Given the description of an element on the screen output the (x, y) to click on. 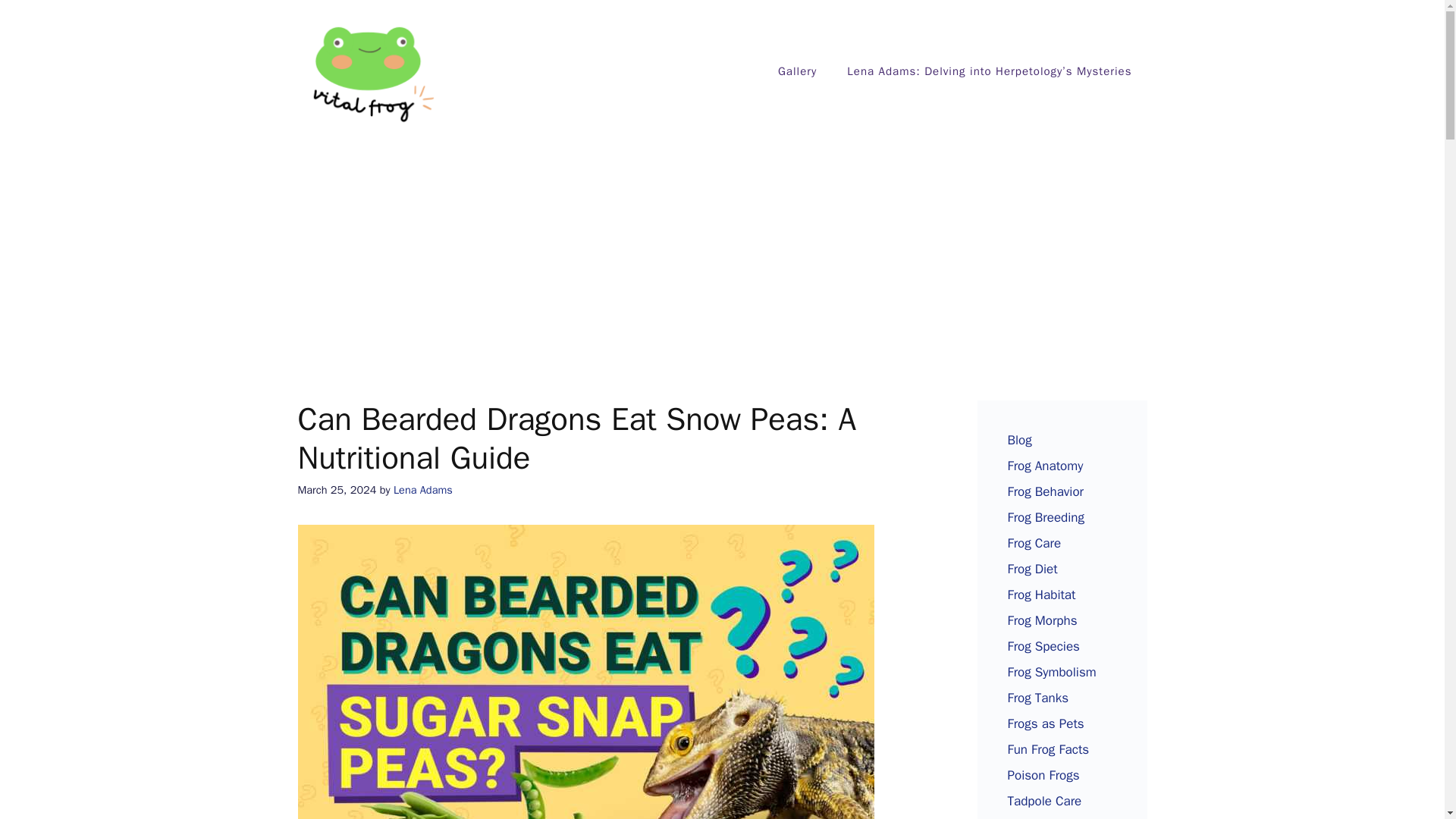
Poison Frogs (1042, 774)
Blog (1018, 439)
Tadpole Care (1044, 801)
Frog Tanks (1037, 697)
Lena Adams (422, 489)
Frog Morphs (1042, 620)
Frog Breeding (1045, 517)
Frogs as Pets (1045, 723)
View all posts by Lena Adams (422, 489)
Frog Behavior (1045, 491)
